Given the description of an element on the screen output the (x, y) to click on. 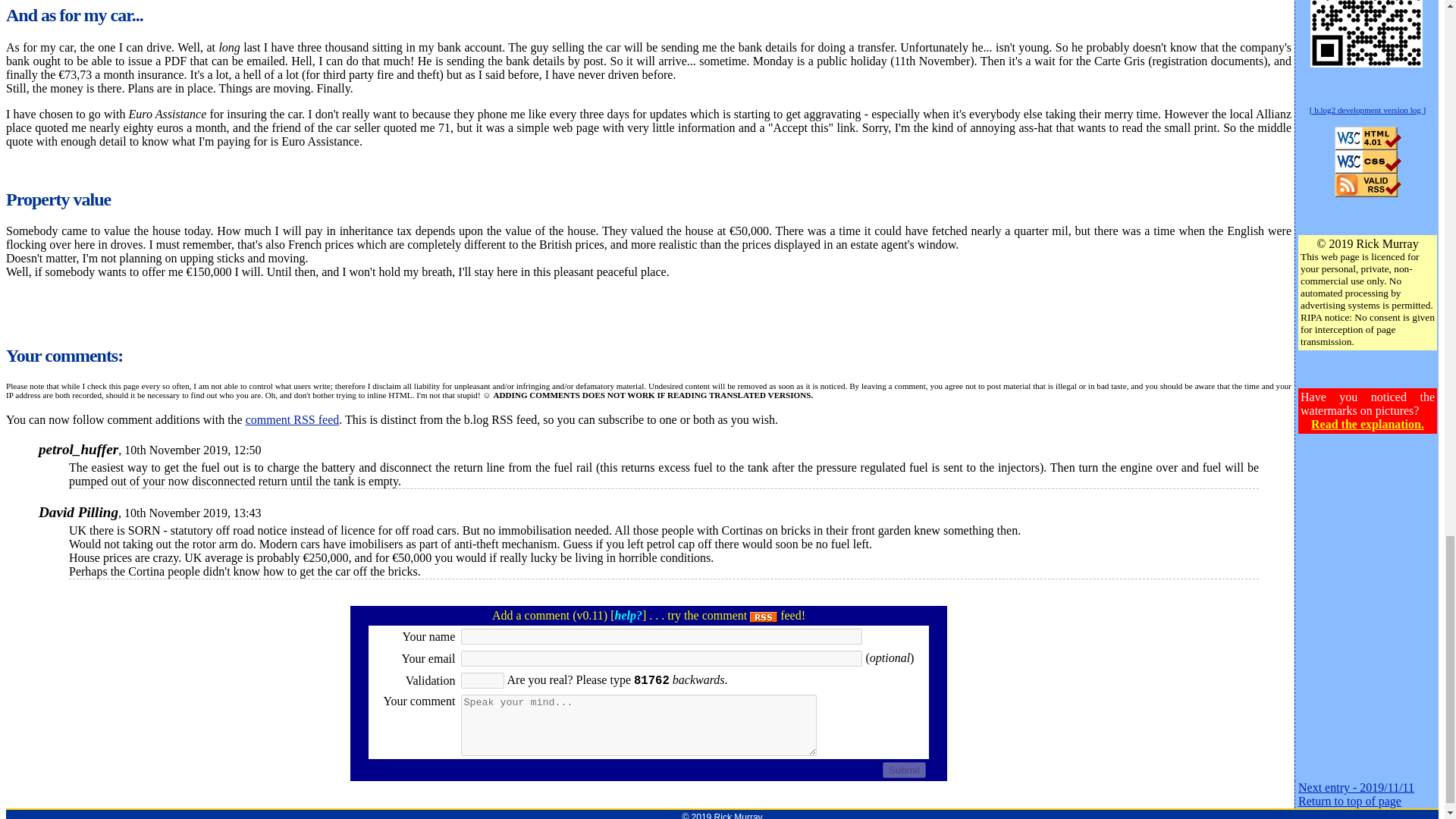
Submit (904, 770)
comment RSS feed (292, 419)
help? (628, 615)
Submit (904, 770)
